Given the description of an element on the screen output the (x, y) to click on. 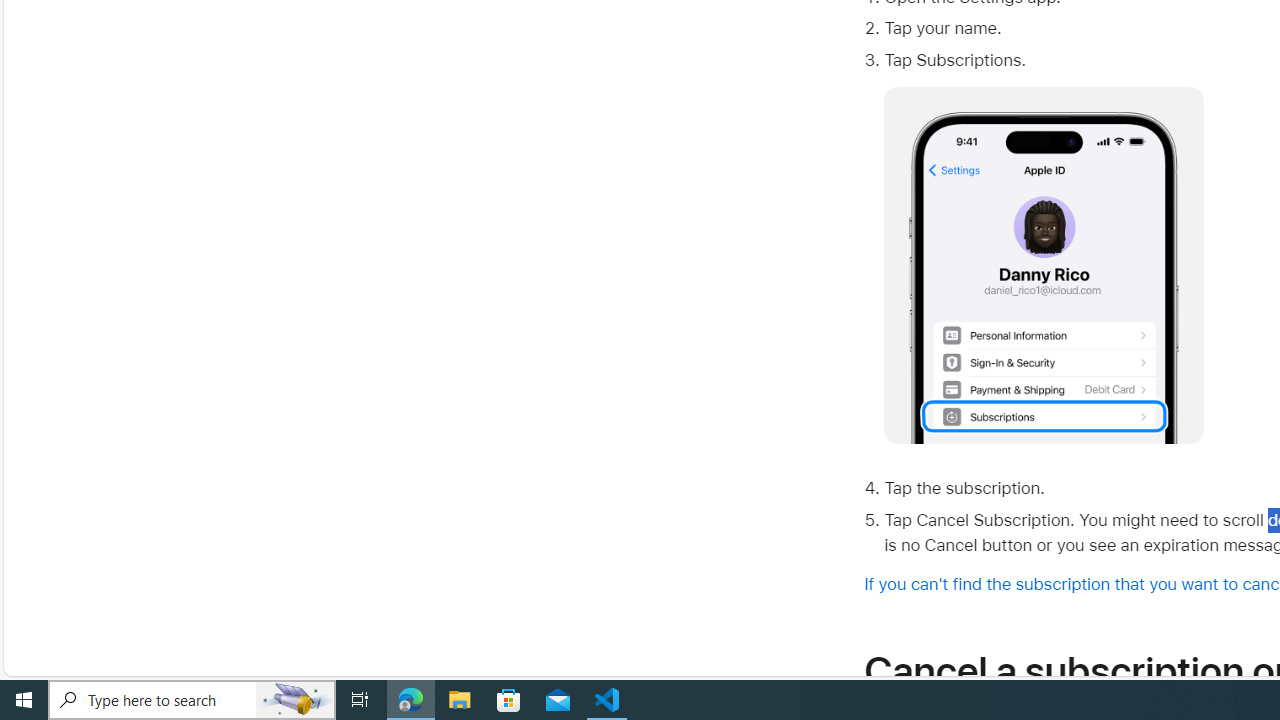
No alt supplied for Image (1044, 265)
